Given the description of an element on the screen output the (x, y) to click on. 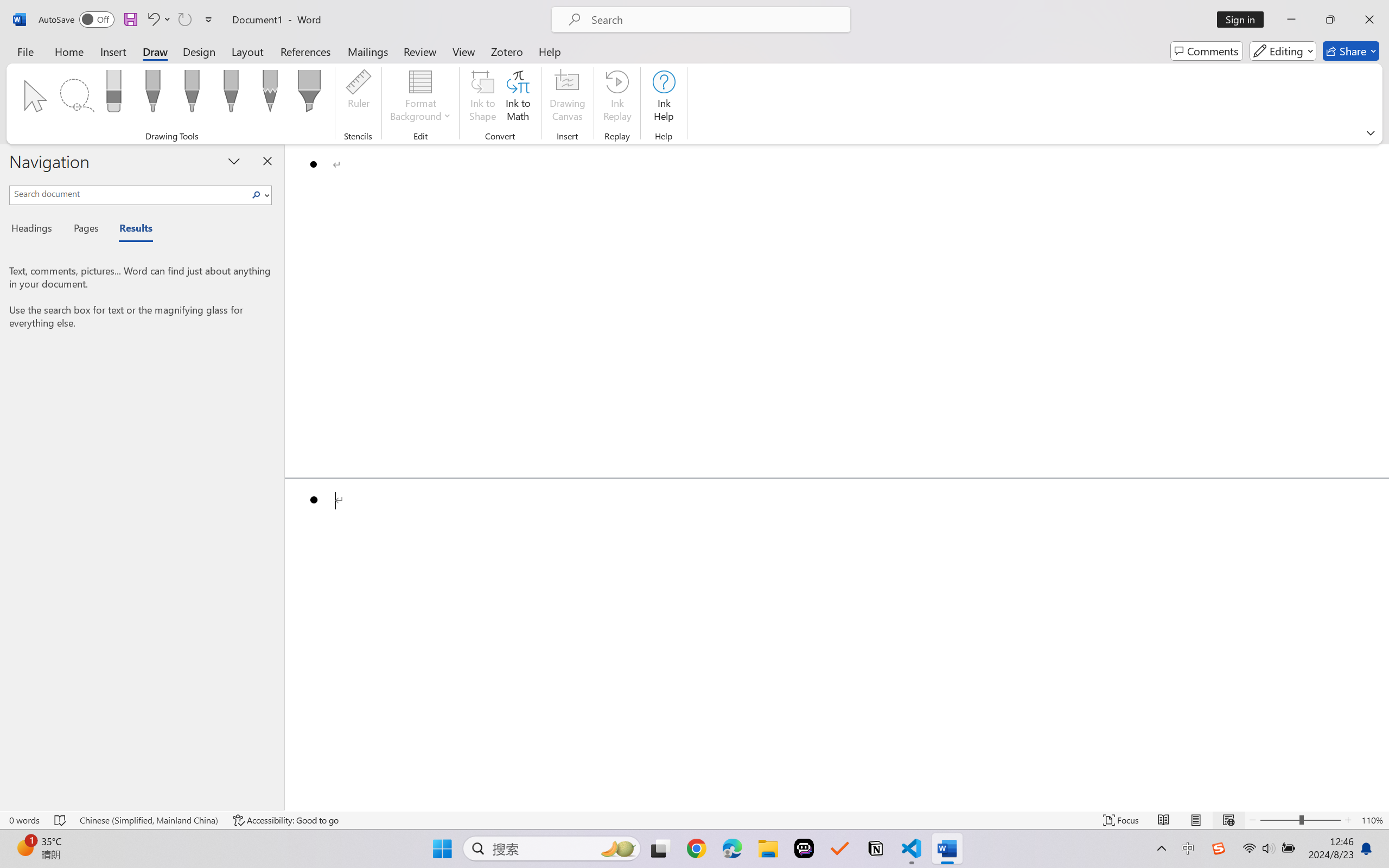
Ink Help (663, 97)
Ink to Shape (483, 97)
Search document (128, 193)
Pen: Galaxy, 1 mm (230, 94)
Highlighter: Yellow, 6 mm (309, 94)
Undo Bullet Default (152, 19)
Can't Repeat (184, 19)
